Given the description of an element on the screen output the (x, y) to click on. 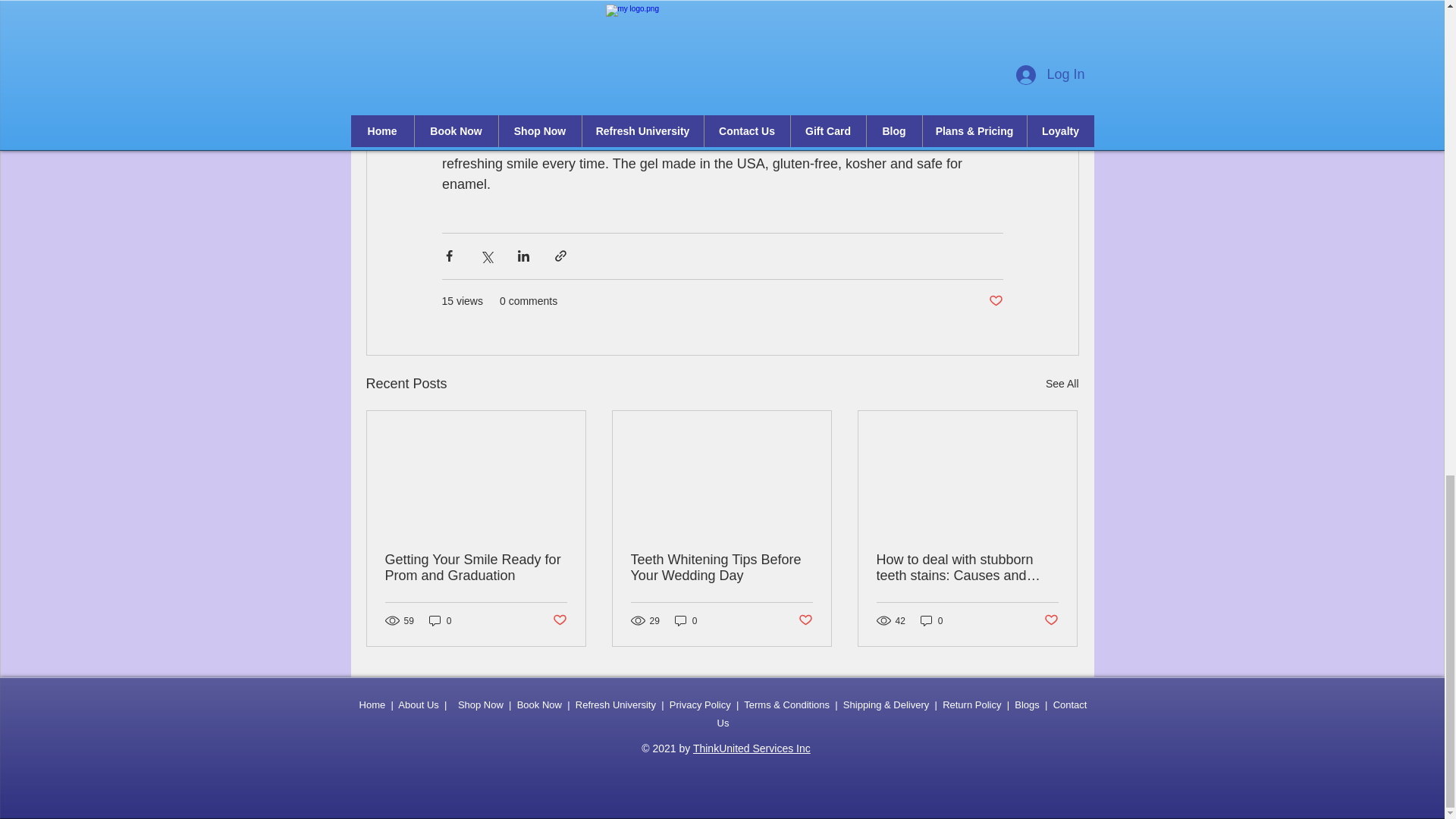
Teeth Whitening Tips Before Your Wedding Day (721, 567)
See All (1061, 383)
How to deal with stubborn teeth stains: Causes and Treatment (967, 567)
Post not marked as liked (558, 620)
0 (685, 620)
Refresh University (615, 704)
Privacy Policy (699, 704)
Post not marked as liked (804, 620)
About Us (417, 704)
Home (372, 704)
Post not marked as liked (995, 301)
0 (440, 620)
Post not marked as liked (1050, 620)
Shop Now (480, 704)
0 (931, 620)
